Given the description of an element on the screen output the (x, y) to click on. 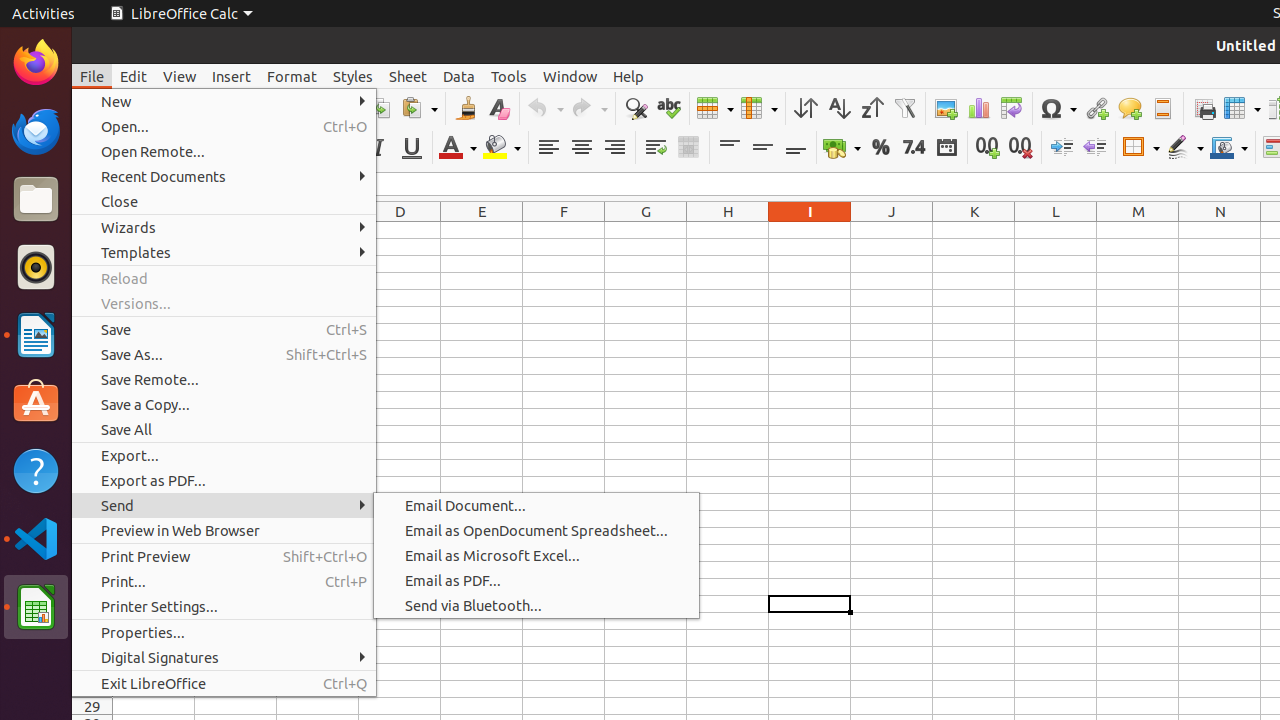
Open Remote... Element type: menu-item (224, 151)
Data Element type: menu (459, 76)
G1 Element type: table-cell (646, 230)
Open... Element type: menu-item (224, 126)
Preview in Web Browser Element type: menu-item (224, 530)
